Given the description of an element on the screen output the (x, y) to click on. 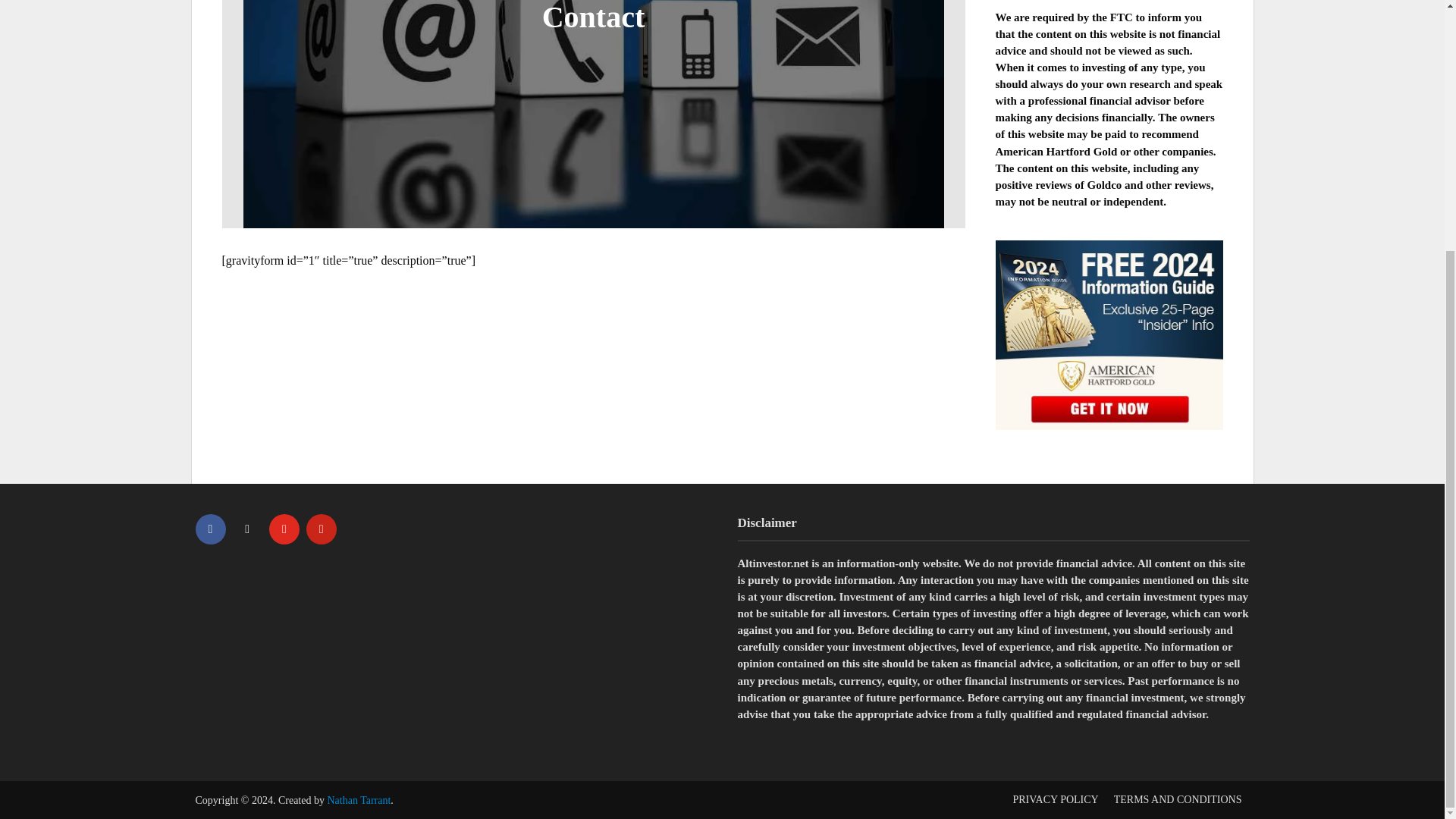
YouTube (284, 529)
Facebook (210, 529)
Pinterest (320, 529)
